Given the description of an element on the screen output the (x, y) to click on. 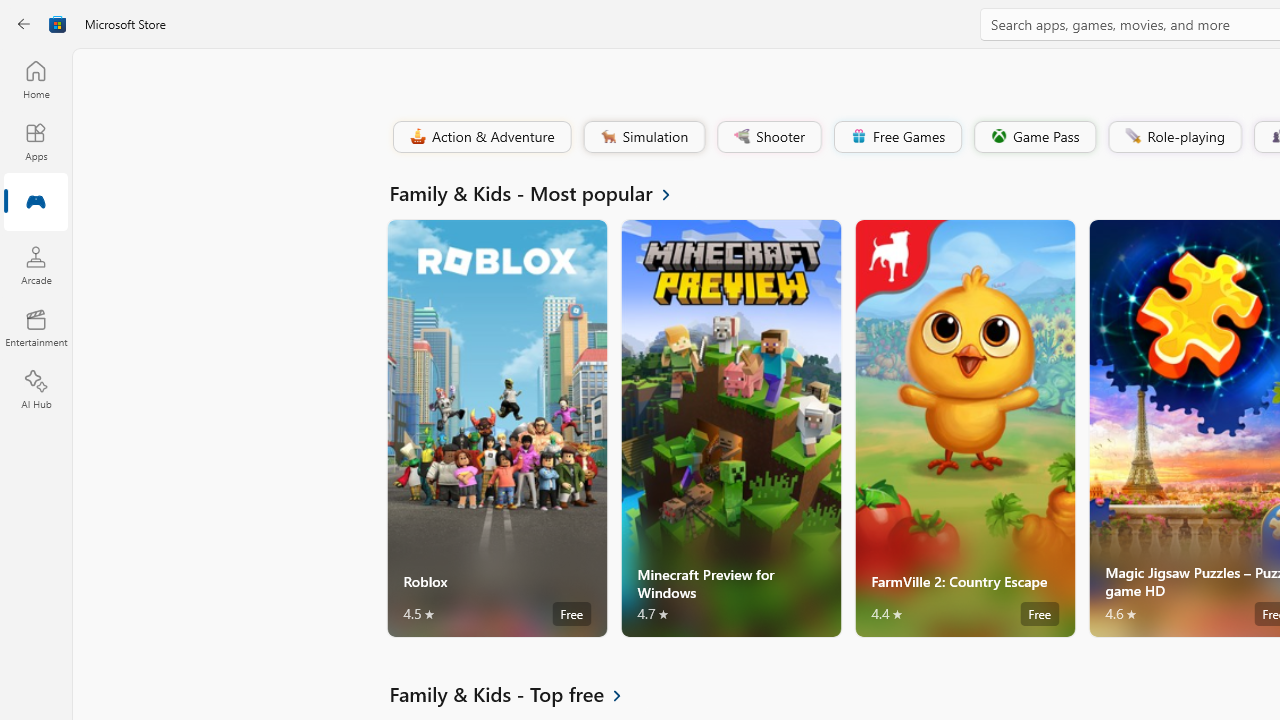
See all  Family & Kids - Most popular (541, 192)
Back (24, 24)
Free Games (897, 136)
Game Pass (1033, 136)
Action & Adventure (480, 136)
Shooter (767, 136)
See all  Family & Kids - Top free (516, 693)
